Given the description of an element on the screen output the (x, y) to click on. 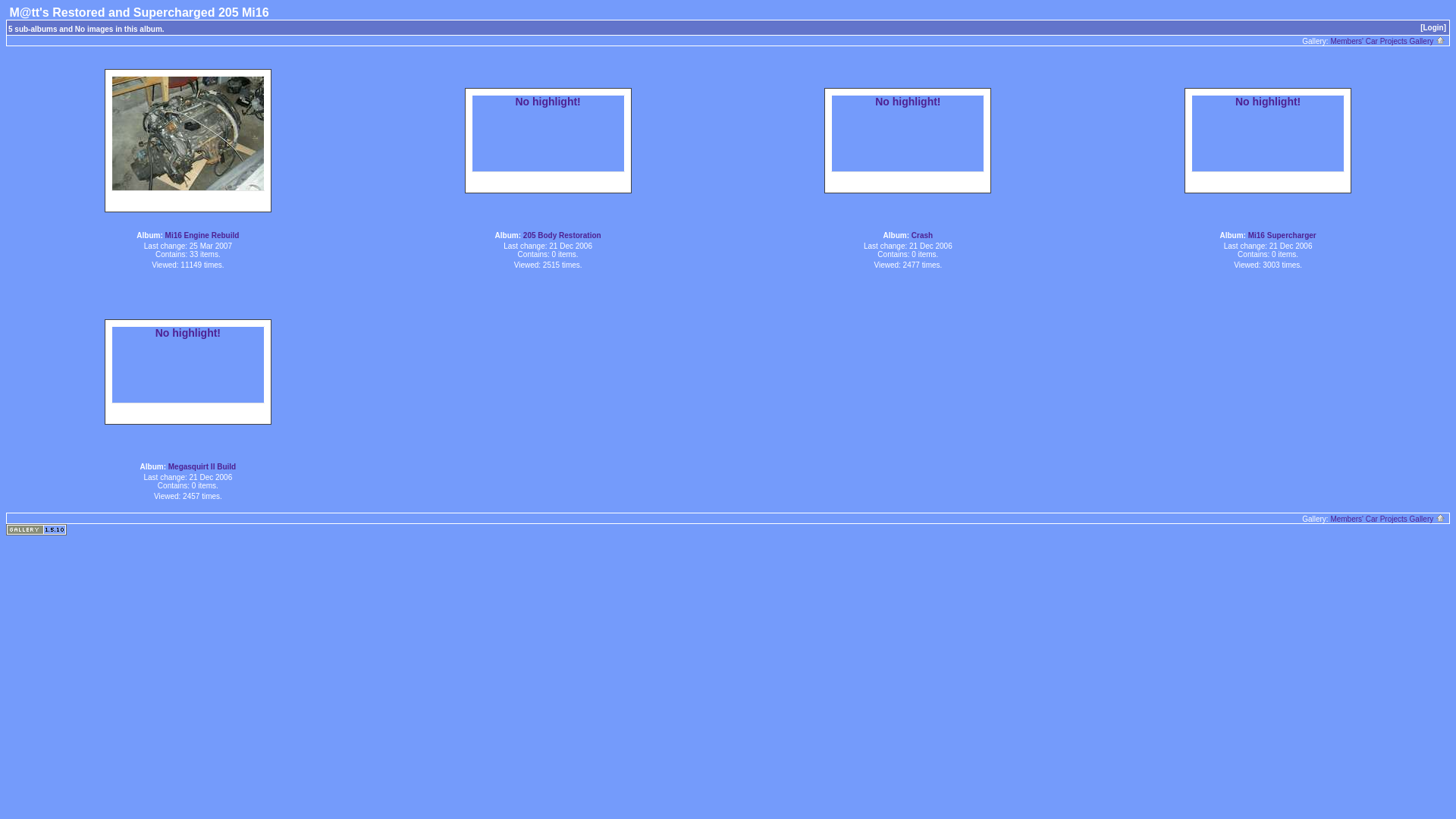
Mi16 Supercharger Element type: text (1282, 235)
Mi16 Engine Rebuild Element type: text (202, 235)
Crash Element type: text (921, 235)
Powered by Gallery v1 Element type: hover (36, 529)
No highlight! Element type: text (1267, 102)
Members' Car Projects Gallery  Element type: text (1387, 41)
205 Body Restoration Element type: text (562, 235)
Megasquirt II Build Element type: text (201, 466)
No highlight! Element type: text (547, 102)
No highlight! Element type: text (907, 102)
navigate up Element type: hover (1440, 517)
Highlight for Album: Mi16 Engine Rebuild Element type: hover (187, 133)
No highlight! Element type: text (187, 333)
navigate up Element type: hover (1440, 39)
[Login] Element type: text (1433, 27)
Members' Car Projects Gallery  Element type: text (1387, 518)
